Given the description of an element on the screen output the (x, y) to click on. 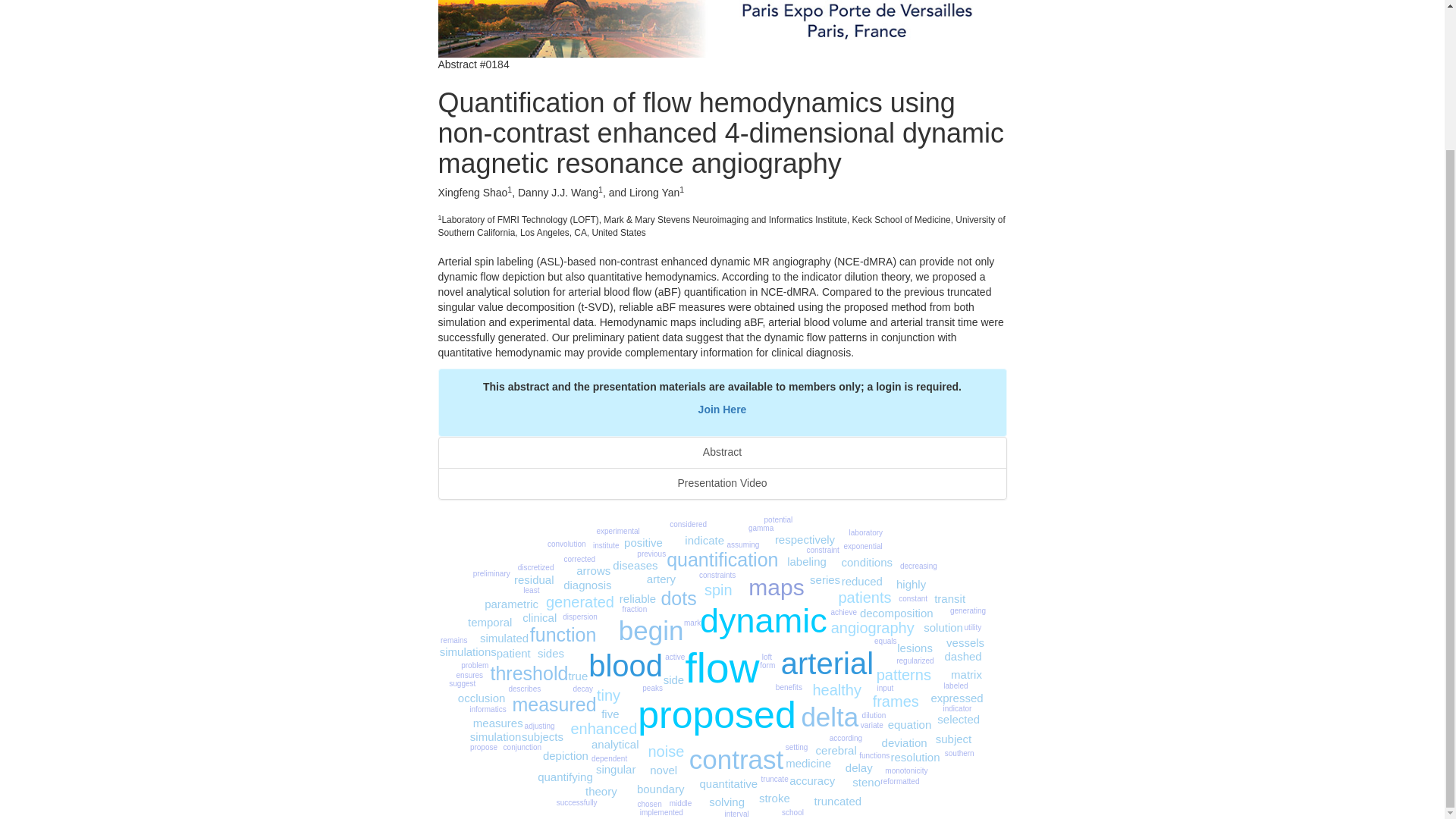
Join Here (722, 409)
Abstract (722, 452)
Presentation Video (722, 483)
